Given the description of an element on the screen output the (x, y) to click on. 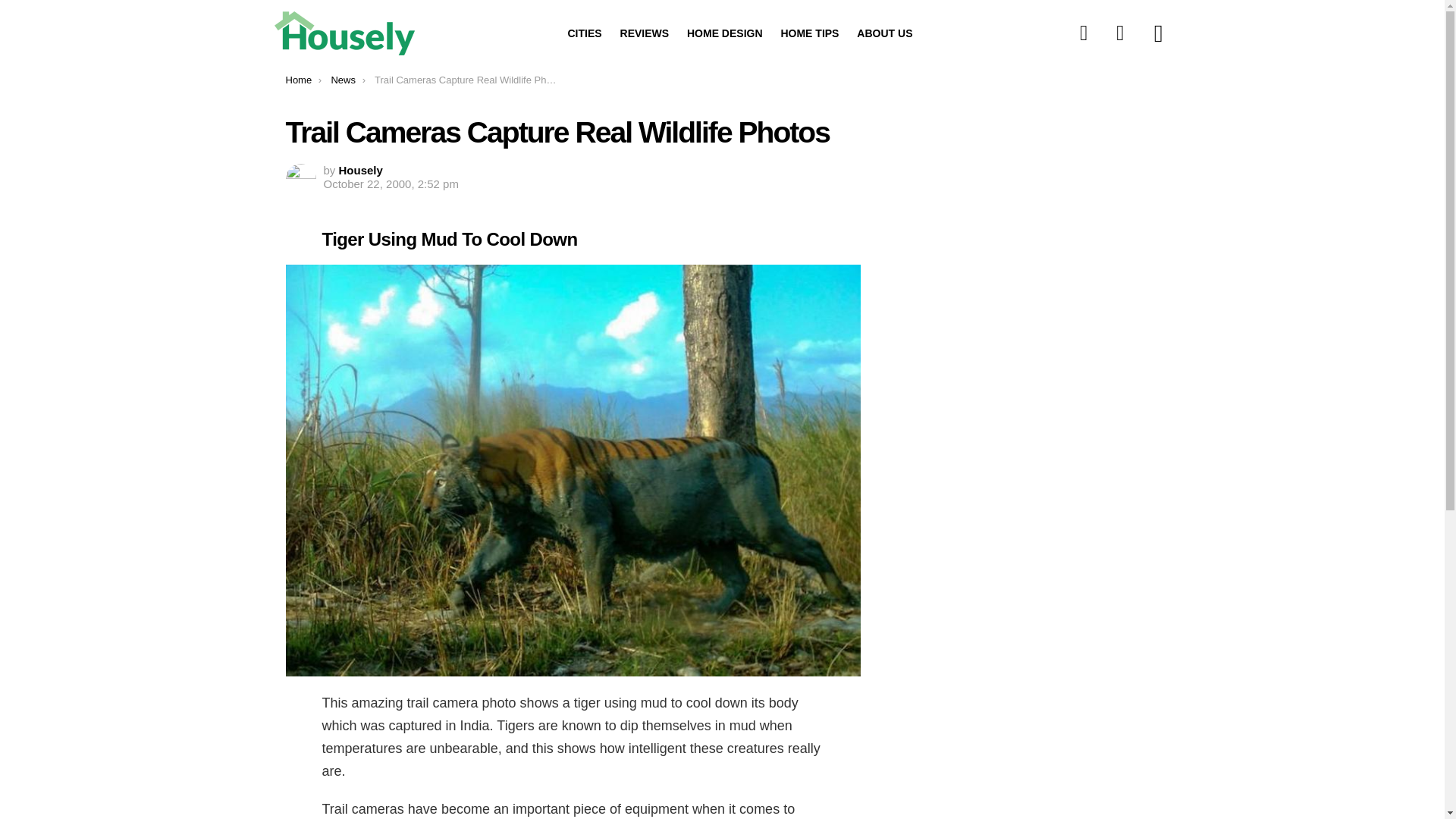
Twitter (1120, 33)
Housely (360, 169)
Posts by Housely (360, 169)
News (342, 79)
HOME TIPS (809, 33)
ABOUT US (884, 33)
Home (298, 79)
HOME DESIGN (724, 33)
REVIEWS (644, 33)
Facebook (1083, 33)
CITIES (583, 33)
